Given the description of an element on the screen output the (x, y) to click on. 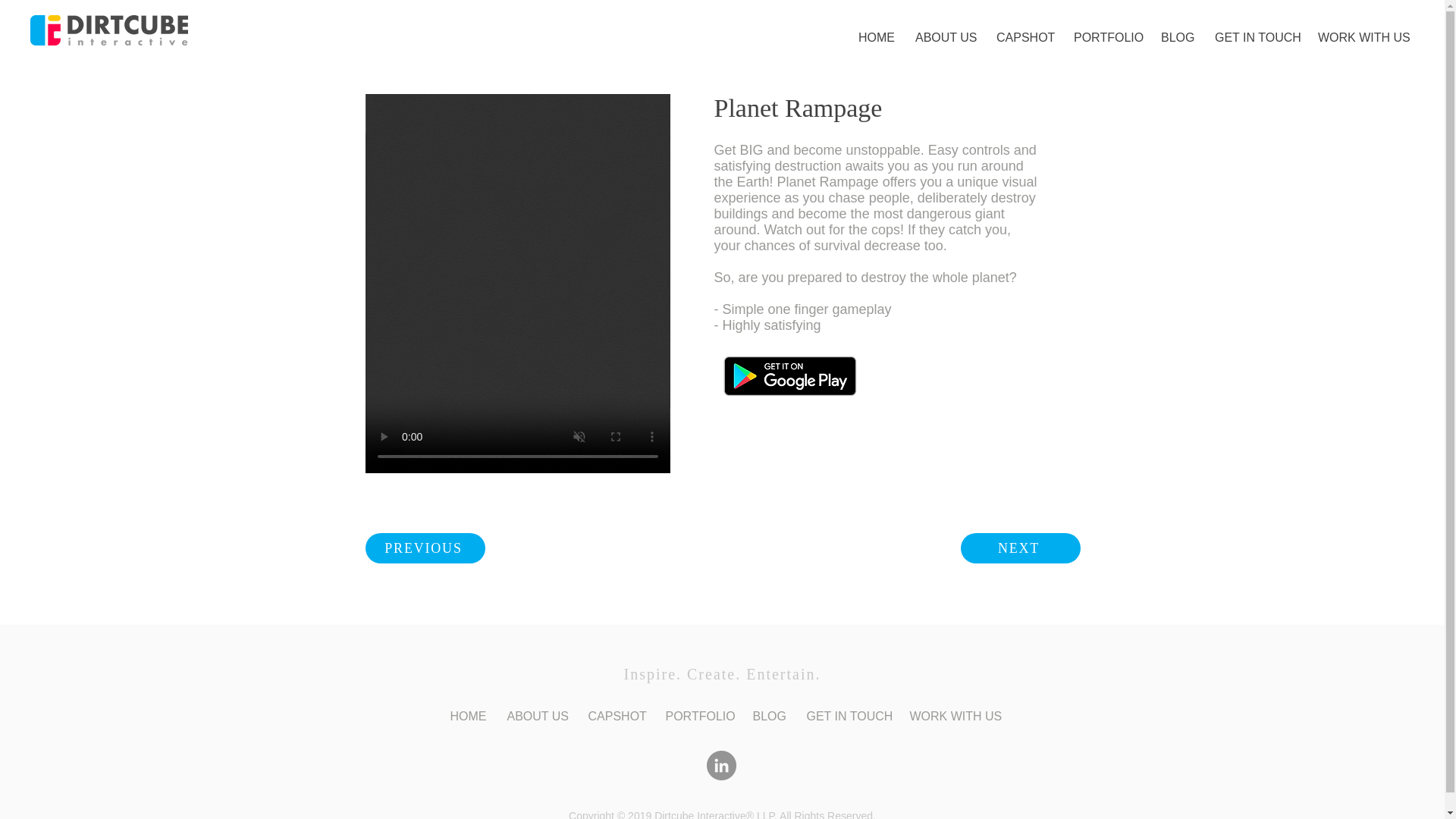
ABOUT US (536, 716)
CAPSHOT (614, 716)
NEXT (1019, 548)
WORK WITH US (1359, 37)
GET IN TOUCH (1255, 37)
HOME (875, 37)
BLOG (767, 716)
CAPSHOT (1023, 37)
BLOG (1177, 37)
ABOUT US (944, 37)
WORK WITH US (952, 716)
PREVIOUS (424, 548)
HOME (466, 716)
GET IN TOUCH (846, 716)
